Given the description of an element on the screen output the (x, y) to click on. 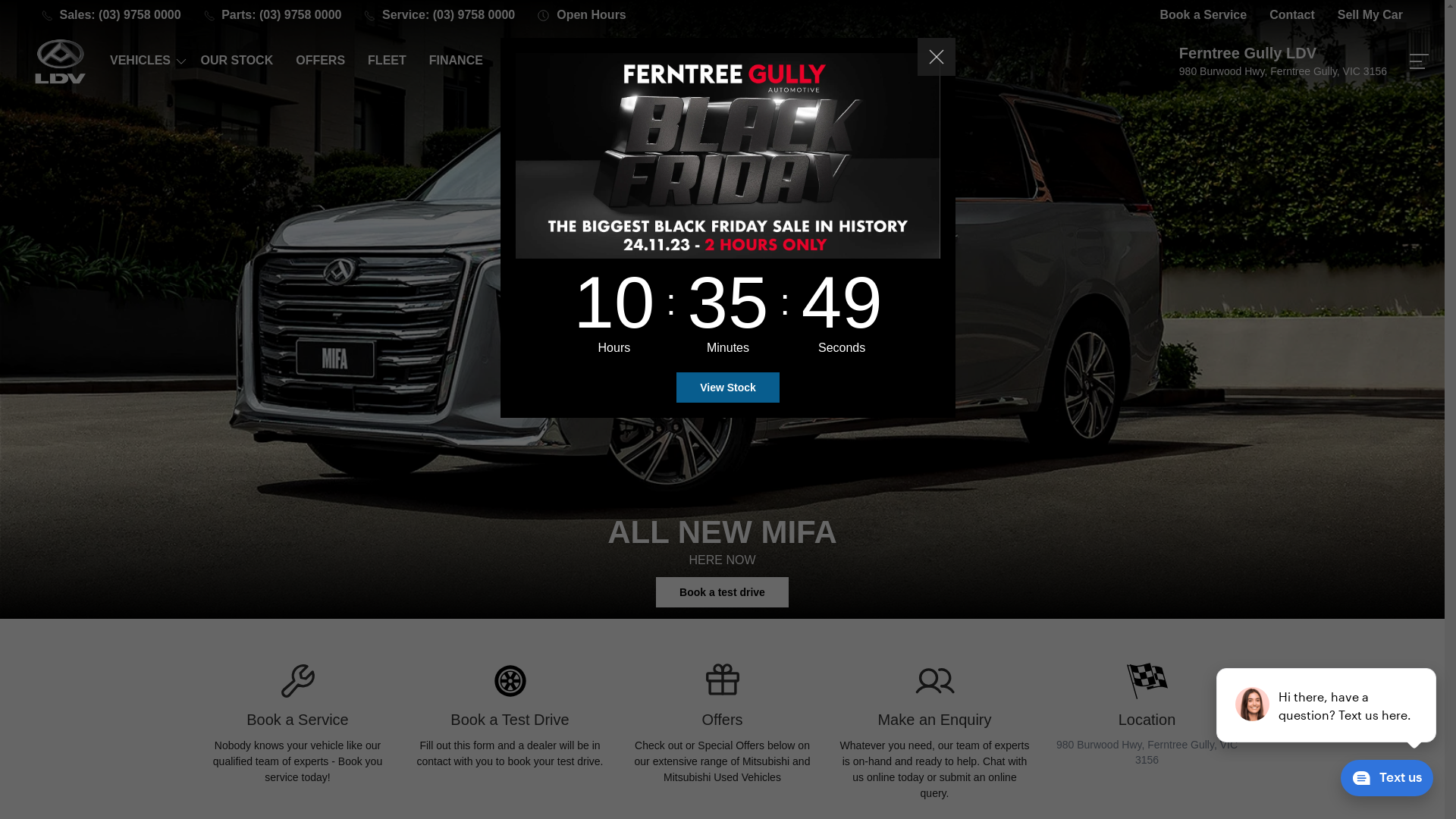
FINANCE
FINANCE Element type: text (455, 60)
Sales: (03) 9758 0000 Element type: text (111, 15)
Open Hours Element type: text (581, 14)
Contact Element type: text (1292, 15)
Sell My Car Element type: text (1370, 15)
Ferntree Gully LDV
980 Burwood Hwy, Ferntree Gully, VIC 3156 Element type: text (1282, 60)
FLEET
FLEET Element type: text (386, 60)
Book a Service Element type: text (1203, 15)
More Element type: hover (1417, 60)
VEHICLES
VEHICLES Element type: text (143, 60)
SERVICE
SERVICE Element type: text (532, 60)
Location
980 Burwood Hwy, Ferntree Gully, VIC 3156 Element type: text (1146, 713)
Discover more Element type: text (722, 592)
Parts: (03) 9758 0000 Element type: text (272, 15)
OFFERS
OFFERS Element type: text (320, 60)
OUR STOCK
OUR STOCK Element type: text (236, 60)
Service: (03) 9758 0000 Element type: text (439, 15)
View Stock Element type: text (727, 387)
